Given the description of an element on the screen output the (x, y) to click on. 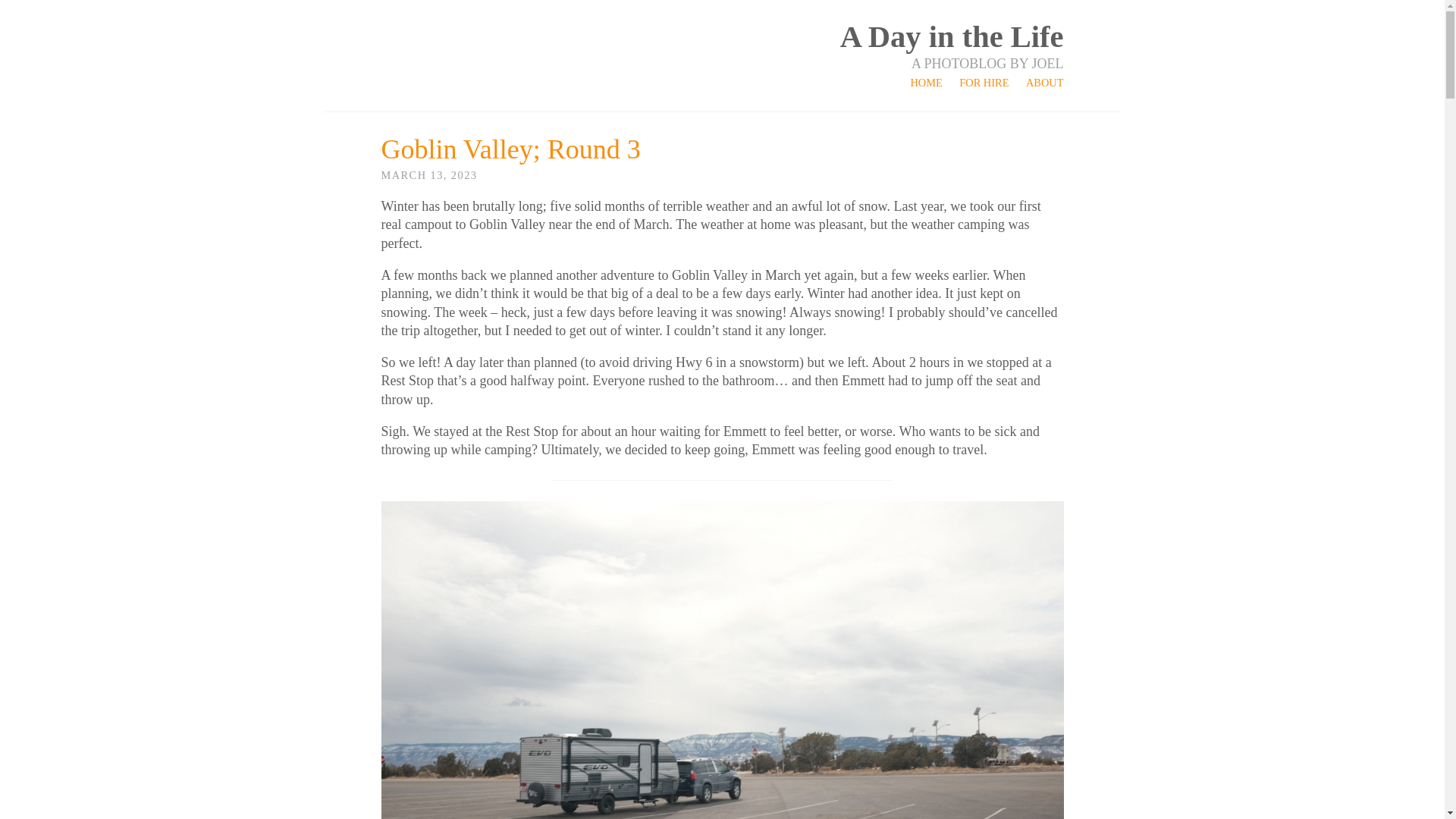
HOME (926, 82)
ABOUT (1045, 82)
FOR HIRE (984, 82)
Goblin Valley; Round 3 (510, 149)
